Given the description of an element on the screen output the (x, y) to click on. 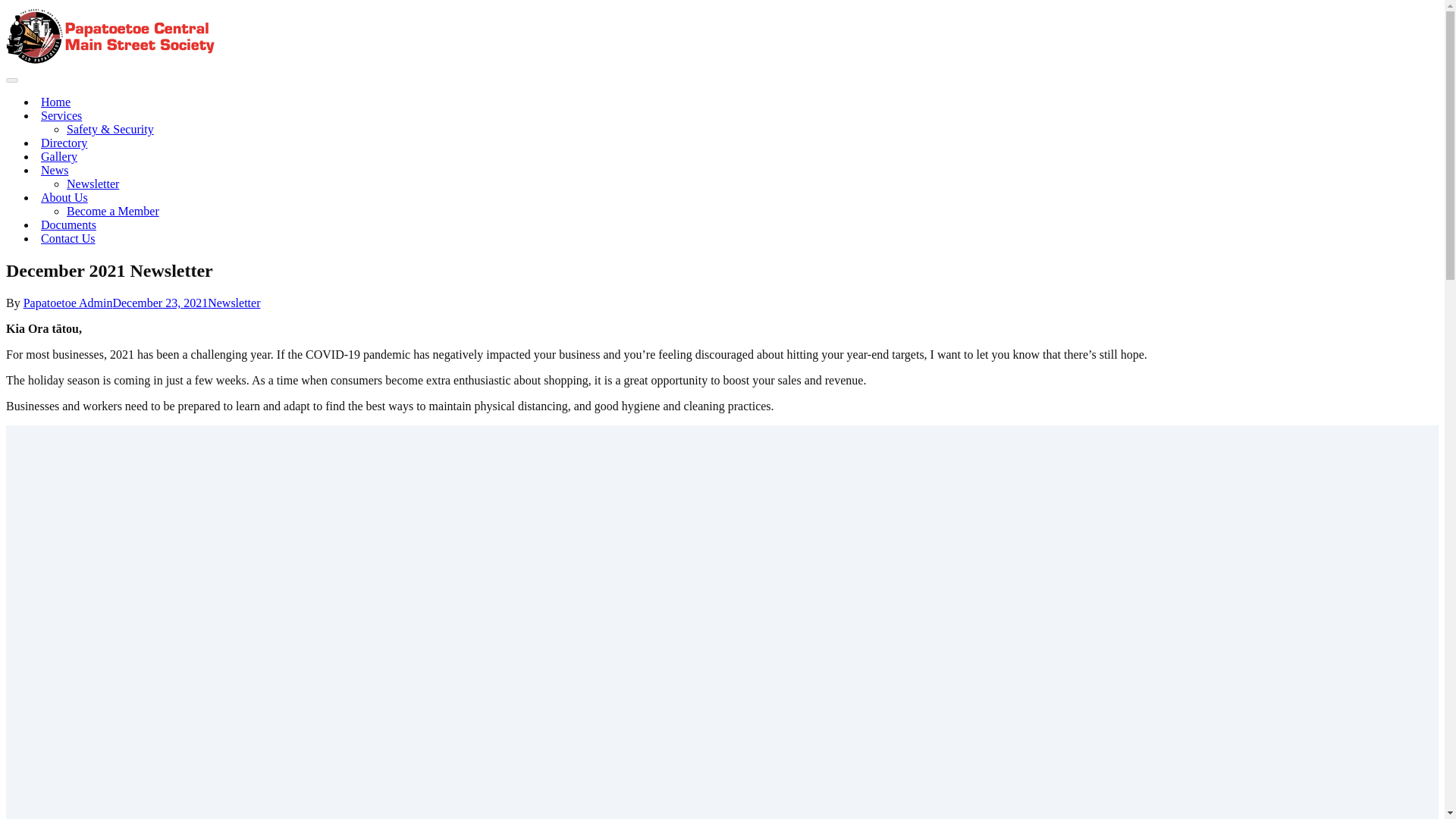
Newsletter (234, 302)
Contact Us (68, 238)
Documents (68, 224)
December 23, 2021 (160, 302)
Papatoetoe Admin (68, 302)
About Us (64, 197)
Directory (63, 142)
Become a Member (112, 210)
Newsletter (92, 183)
